Given the description of an element on the screen output the (x, y) to click on. 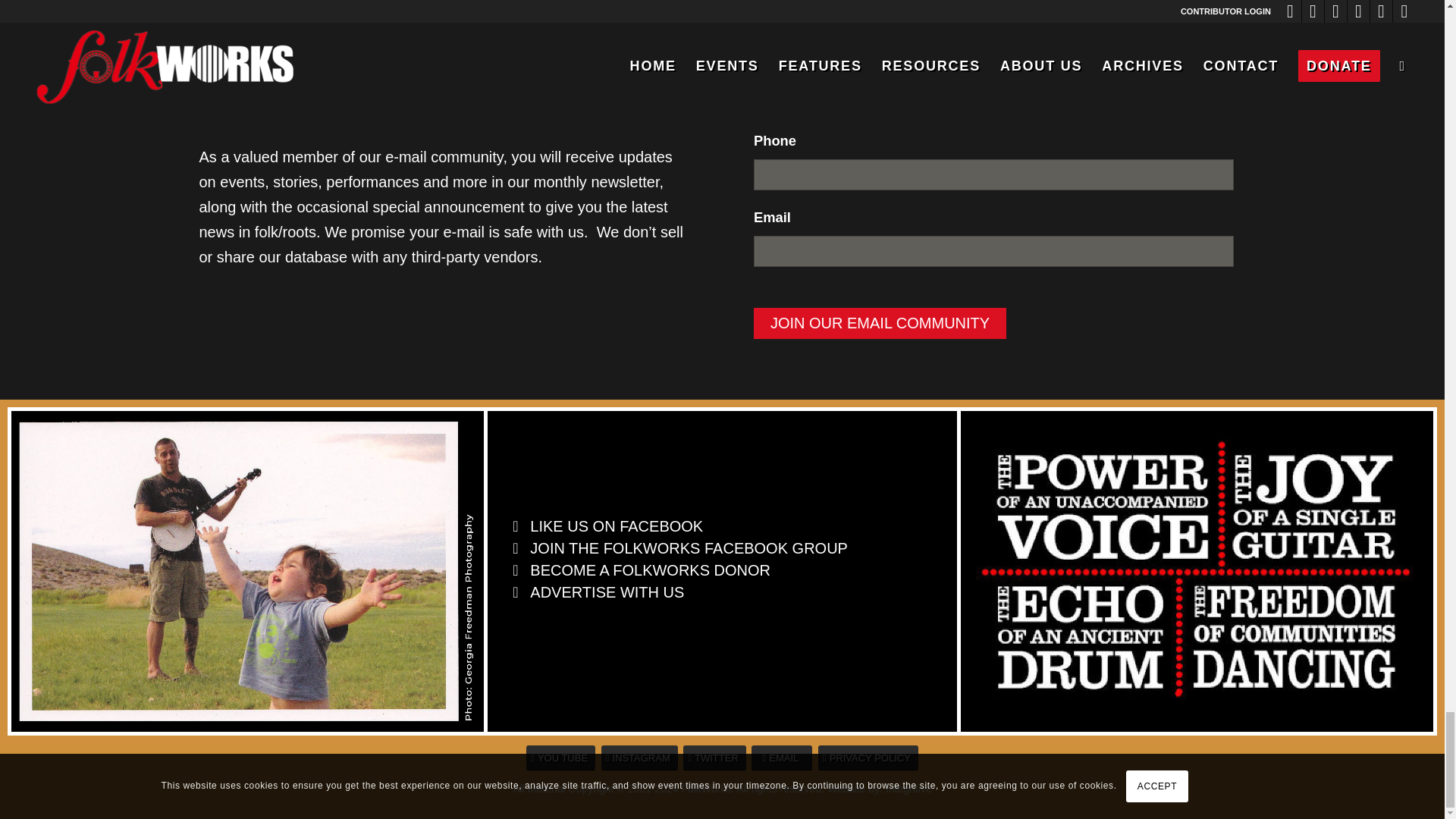
JOIN OUR EMAIL COMMUNITY (880, 323)
